Given the description of an element on the screen output the (x, y) to click on. 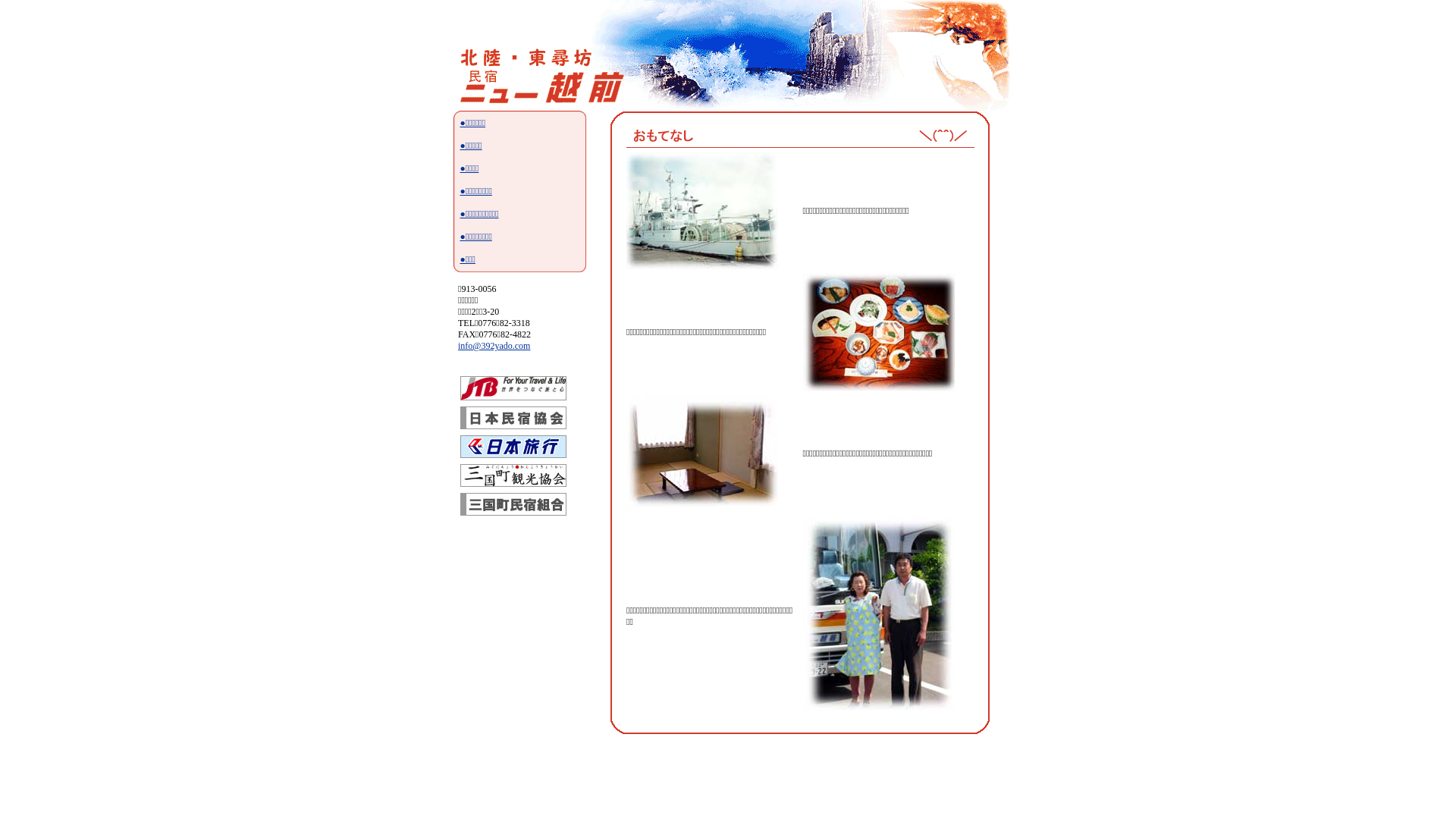
info@392yado.com Element type: text (494, 345)
